Given the description of an element on the screen output the (x, y) to click on. 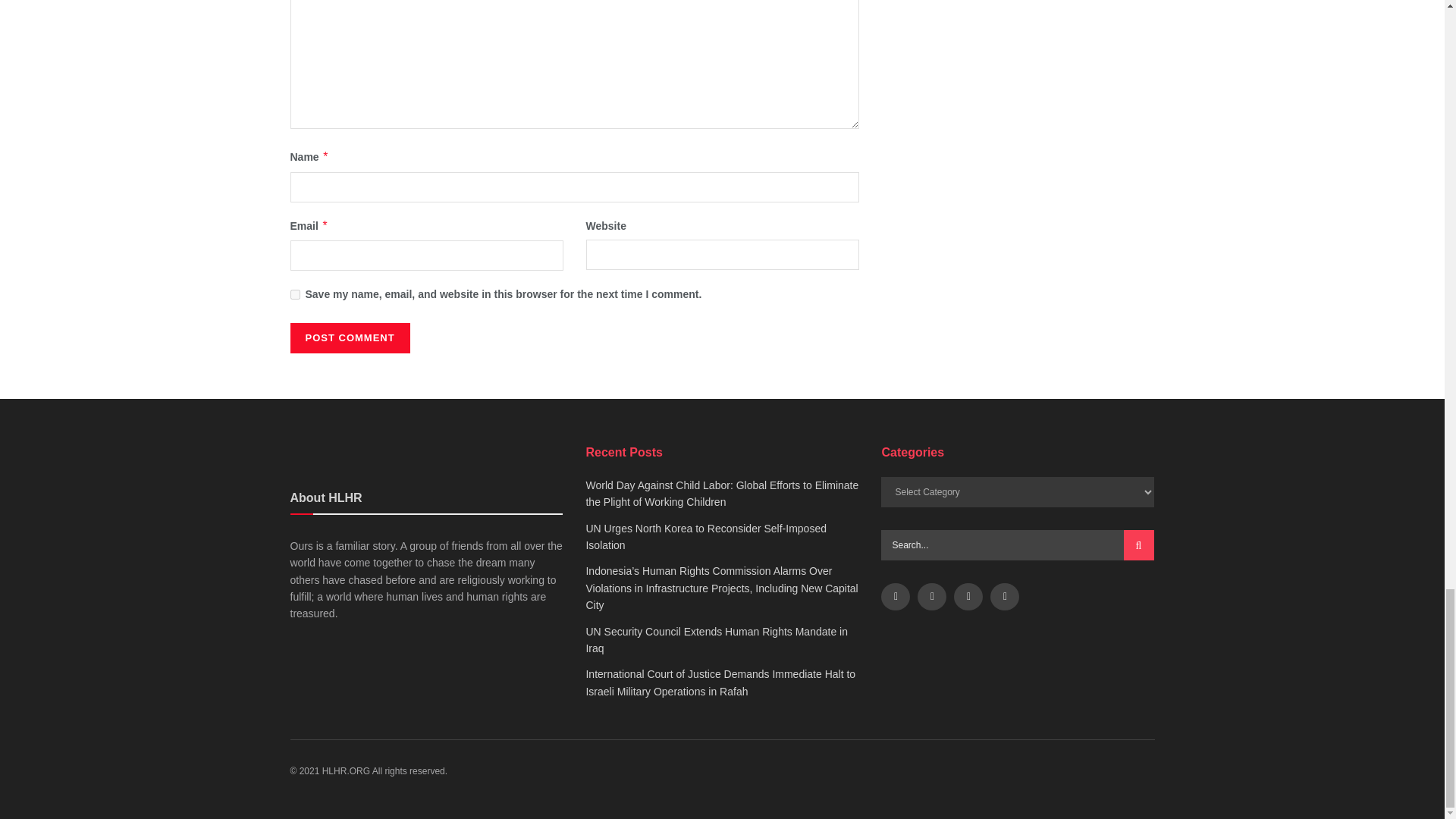
yes (294, 294)
Post Comment (349, 337)
